Given the description of an element on the screen output the (x, y) to click on. 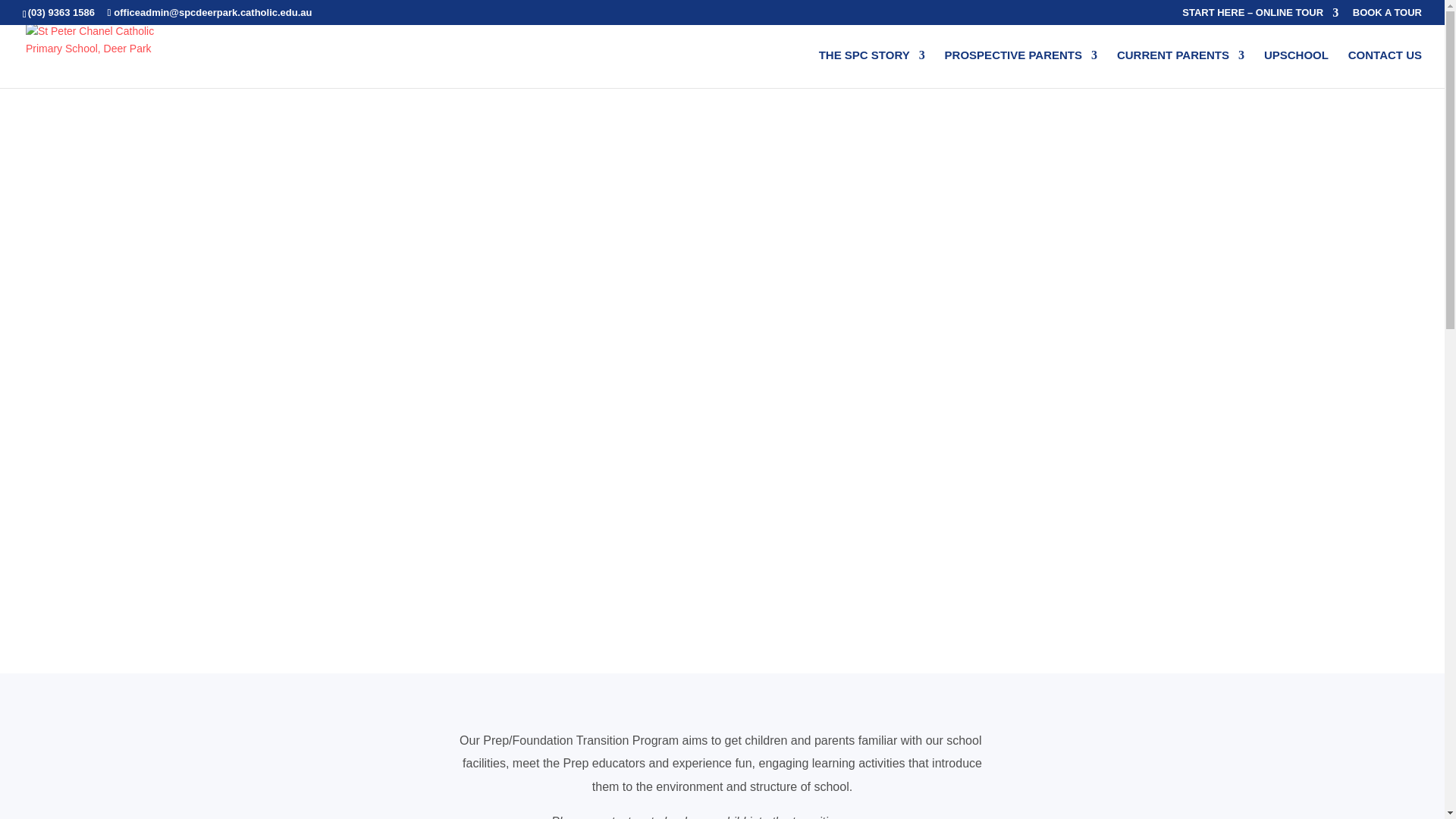
THE SPC STORY (871, 68)
PROSPECTIVE PARENTS (1020, 68)
BOOK A TOUR (1387, 16)
